Given the description of an element on the screen output the (x, y) to click on. 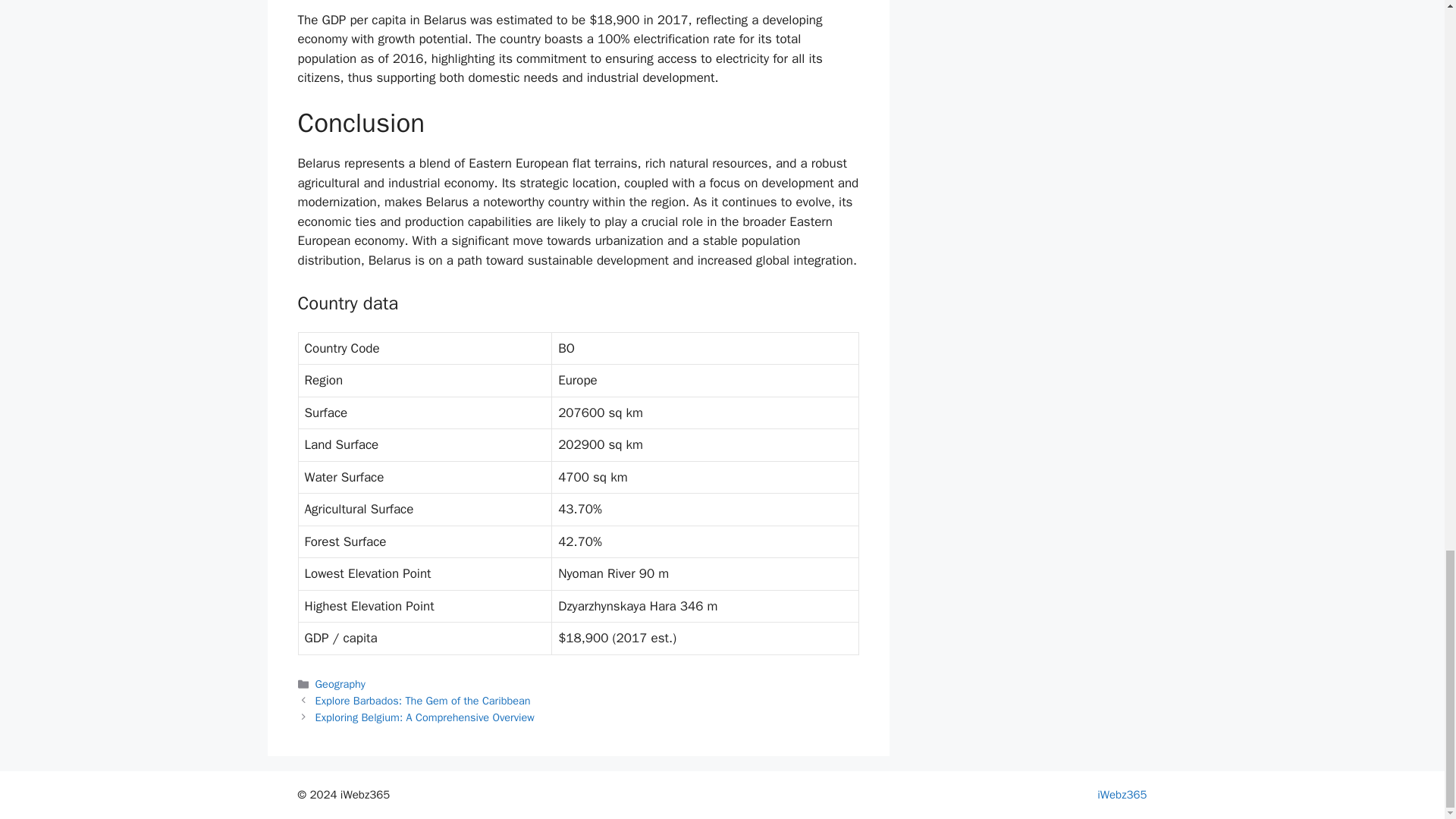
Geography (340, 684)
Previous (423, 700)
iWebz365 (1122, 794)
Next (424, 716)
Exploring Belgium: A Comprehensive Overview (424, 716)
Explore Barbados: The Gem of the Caribbean (423, 700)
